Given the description of an element on the screen output the (x, y) to click on. 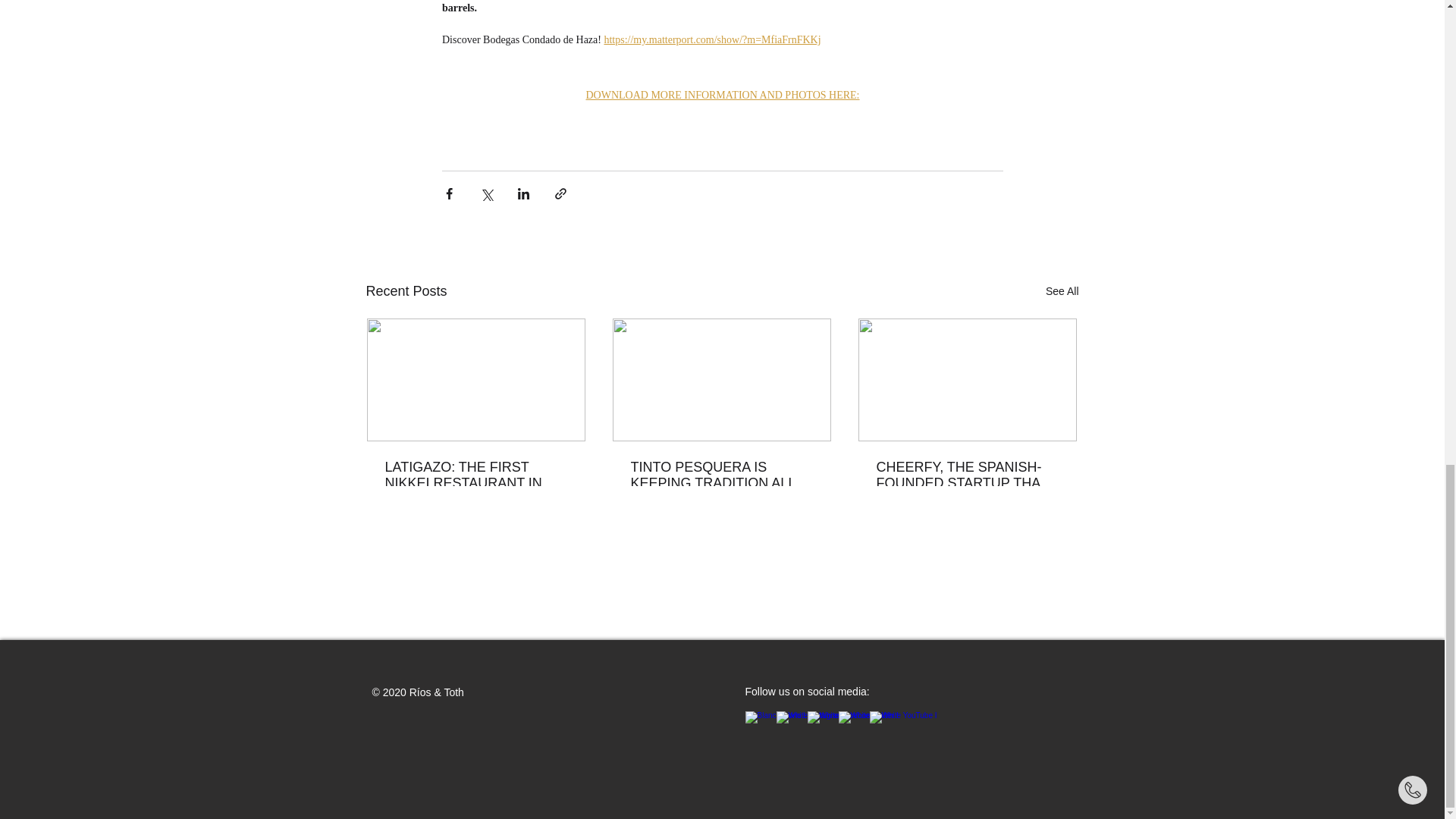
DOWNLOAD MORE INFORMATION AND PHOTOS HERE: (722, 94)
See All (1061, 291)
